Given the description of an element on the screen output the (x, y) to click on. 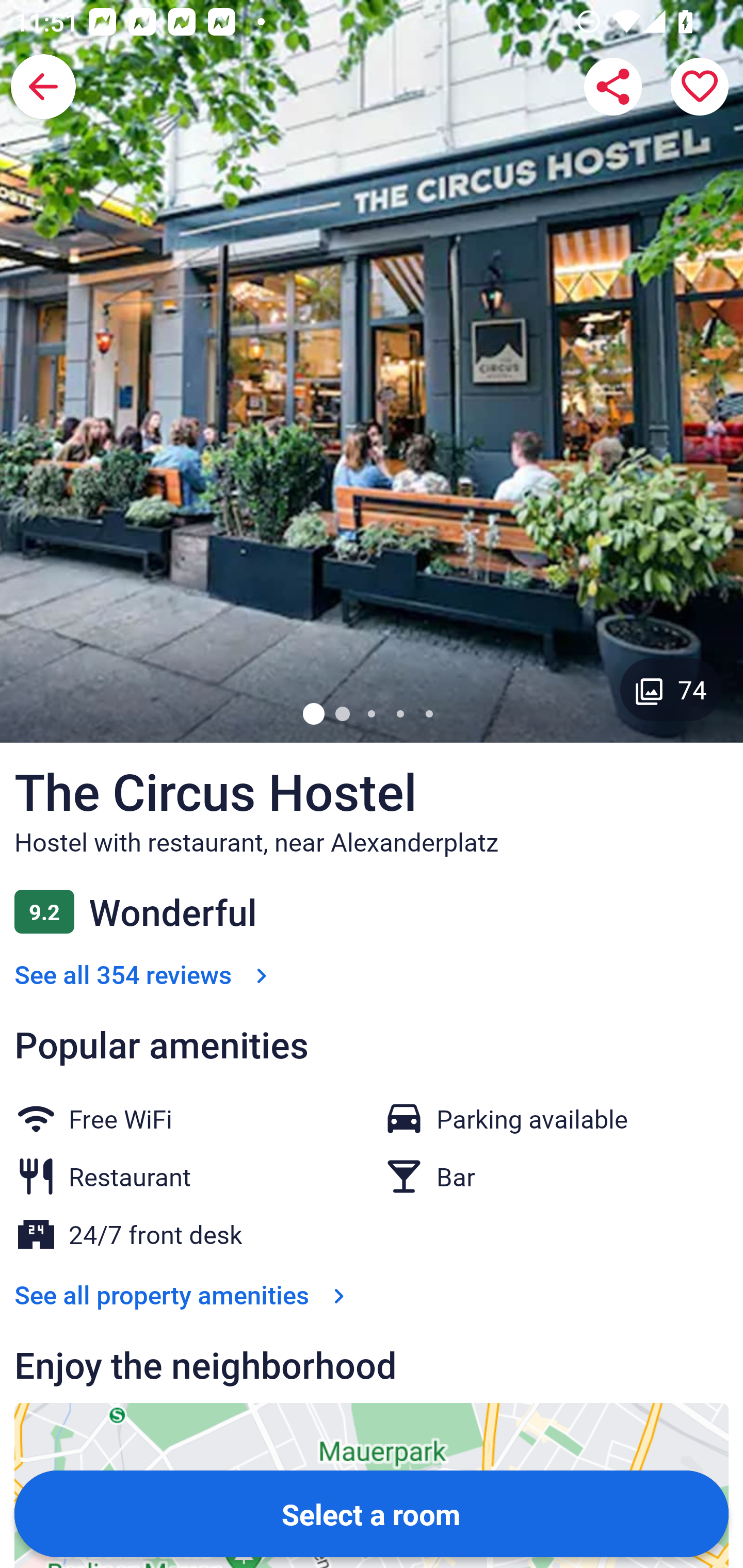
Back (43, 86)
Save property to a trip (699, 86)
Share The Circus Hostel (612, 87)
Gallery button with 74 images (670, 689)
See all 354 reviews See all 354 reviews Link (144, 974)
See all property amenities (183, 1294)
Select a room Button Select a room (371, 1513)
